Given the description of an element on the screen output the (x, y) to click on. 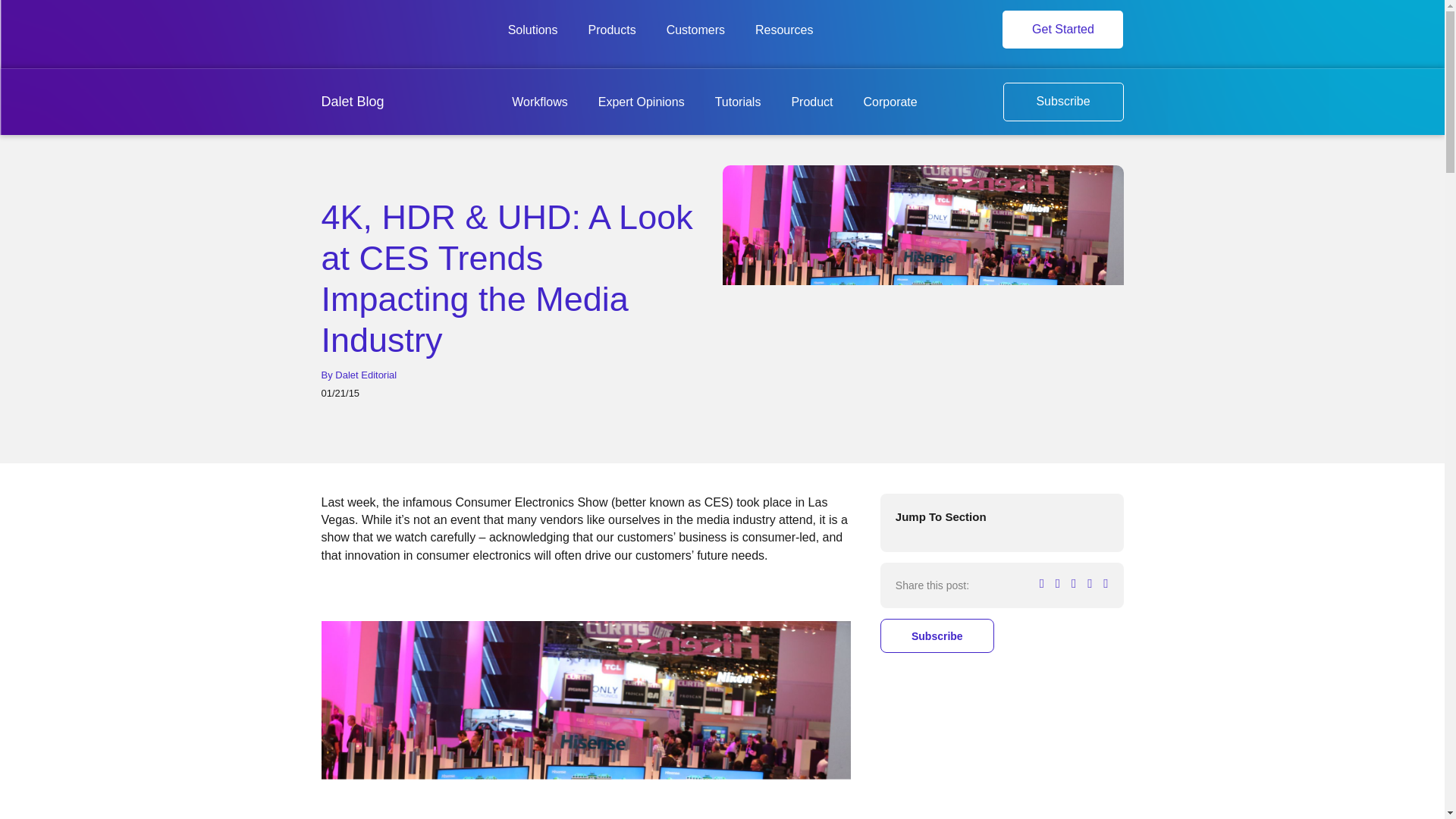
Customers (695, 29)
Solutions (532, 29)
Resources (783, 29)
Subscribe (1062, 101)
Products (612, 29)
